Given the description of an element on the screen output the (x, y) to click on. 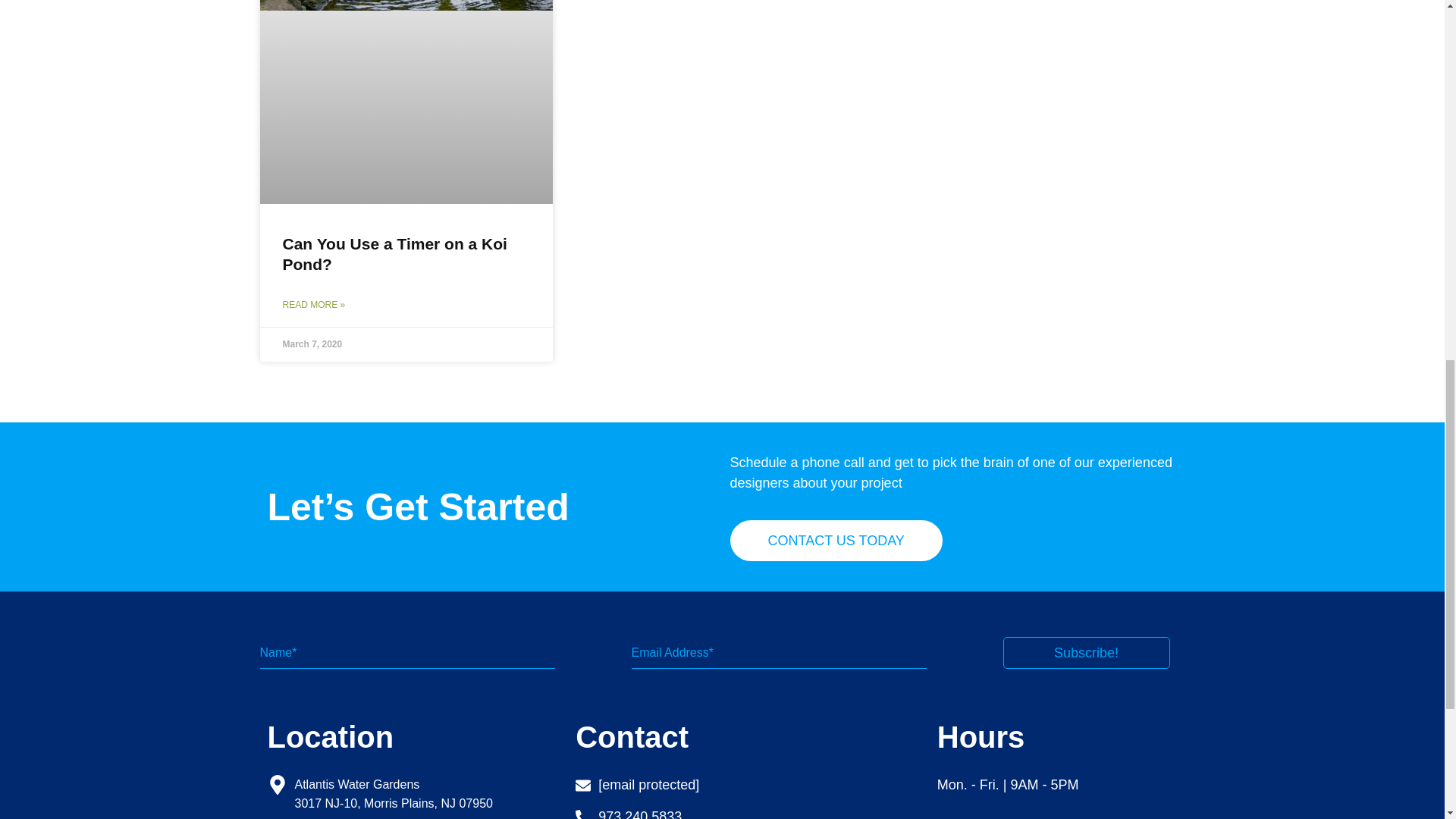
Subscribe! (1086, 653)
